Given the description of an element on the screen output the (x, y) to click on. 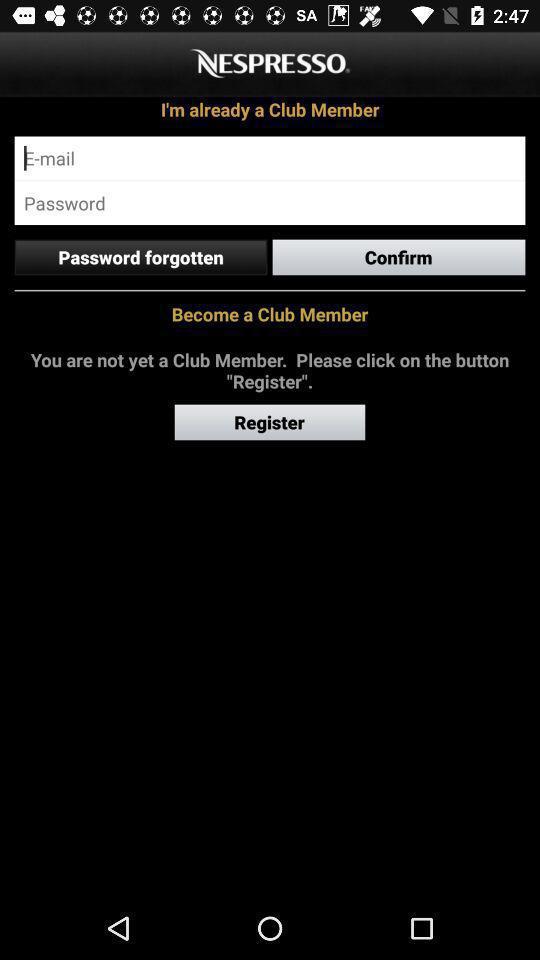
enter password (269, 203)
